Given the description of an element on the screen output the (x, y) to click on. 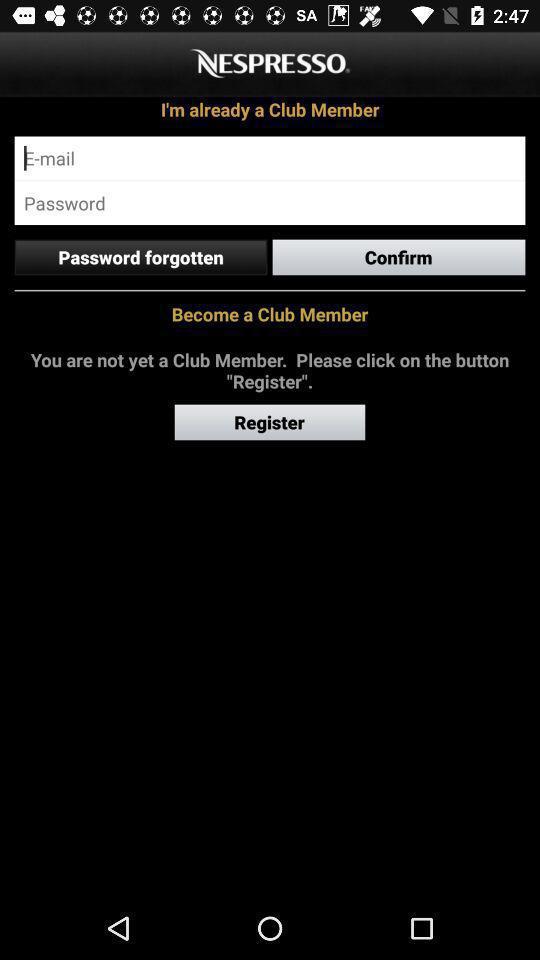
enter password (269, 203)
